Given the description of an element on the screen output the (x, y) to click on. 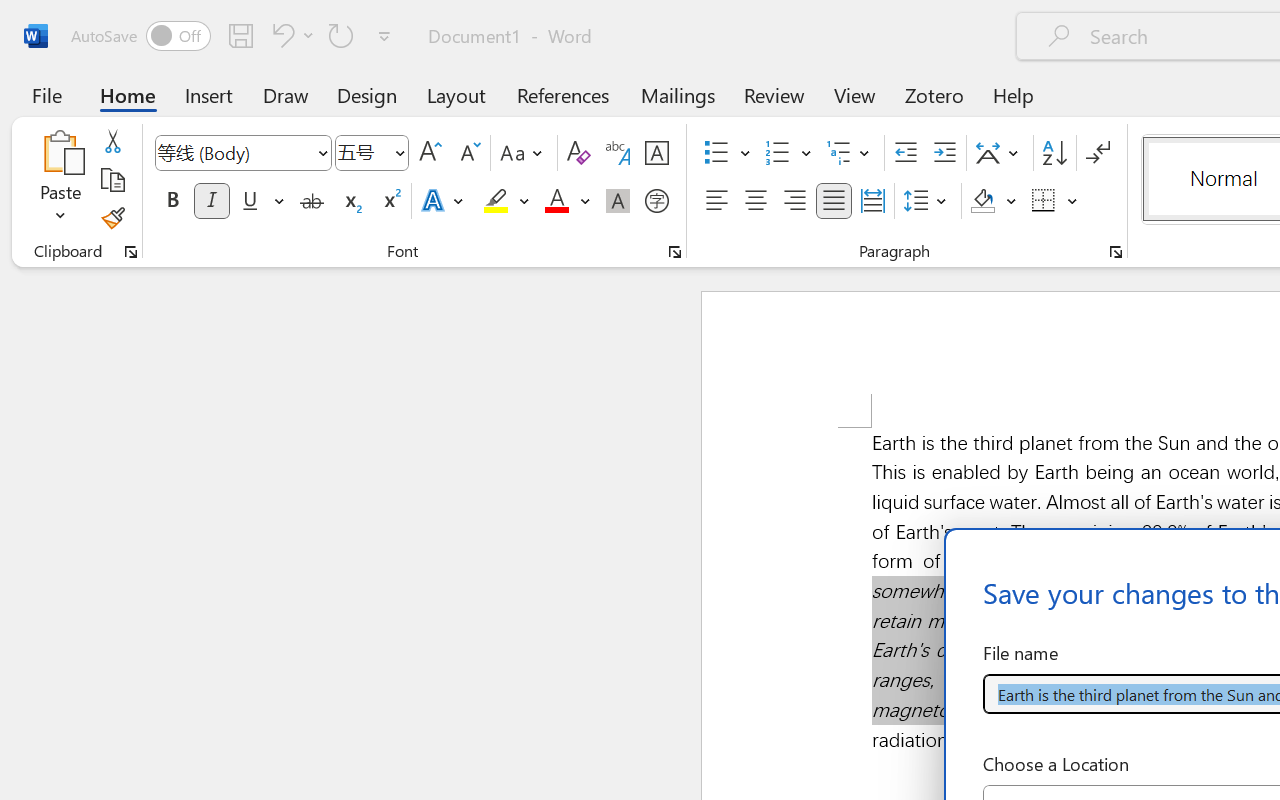
Format Painter (112, 218)
Shading RGB(0, 0, 0) (982, 201)
Change Case (524, 153)
Justify (834, 201)
Show/Hide Editing Marks (1098, 153)
Grow Font (430, 153)
Shading (993, 201)
